Given the description of an element on the screen output the (x, y) to click on. 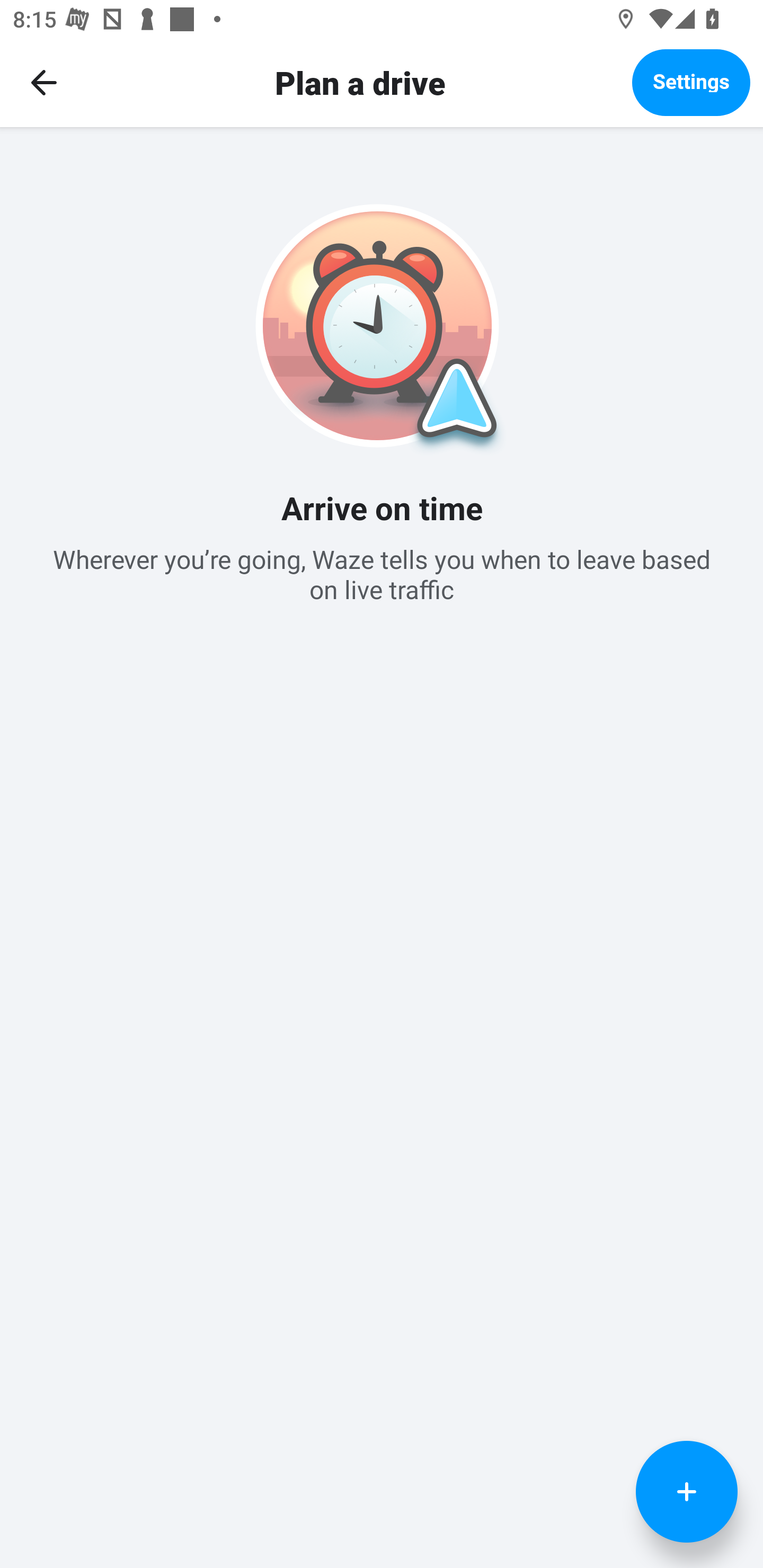
Settings (690, 82)
ACTION_CELL_ICON Inbox ACTION_CELL_TEXT (381, 529)
ACTION_CELL_ICON Settings ACTION_CELL_TEXT (381, 620)
